Given the description of an element on the screen output the (x, y) to click on. 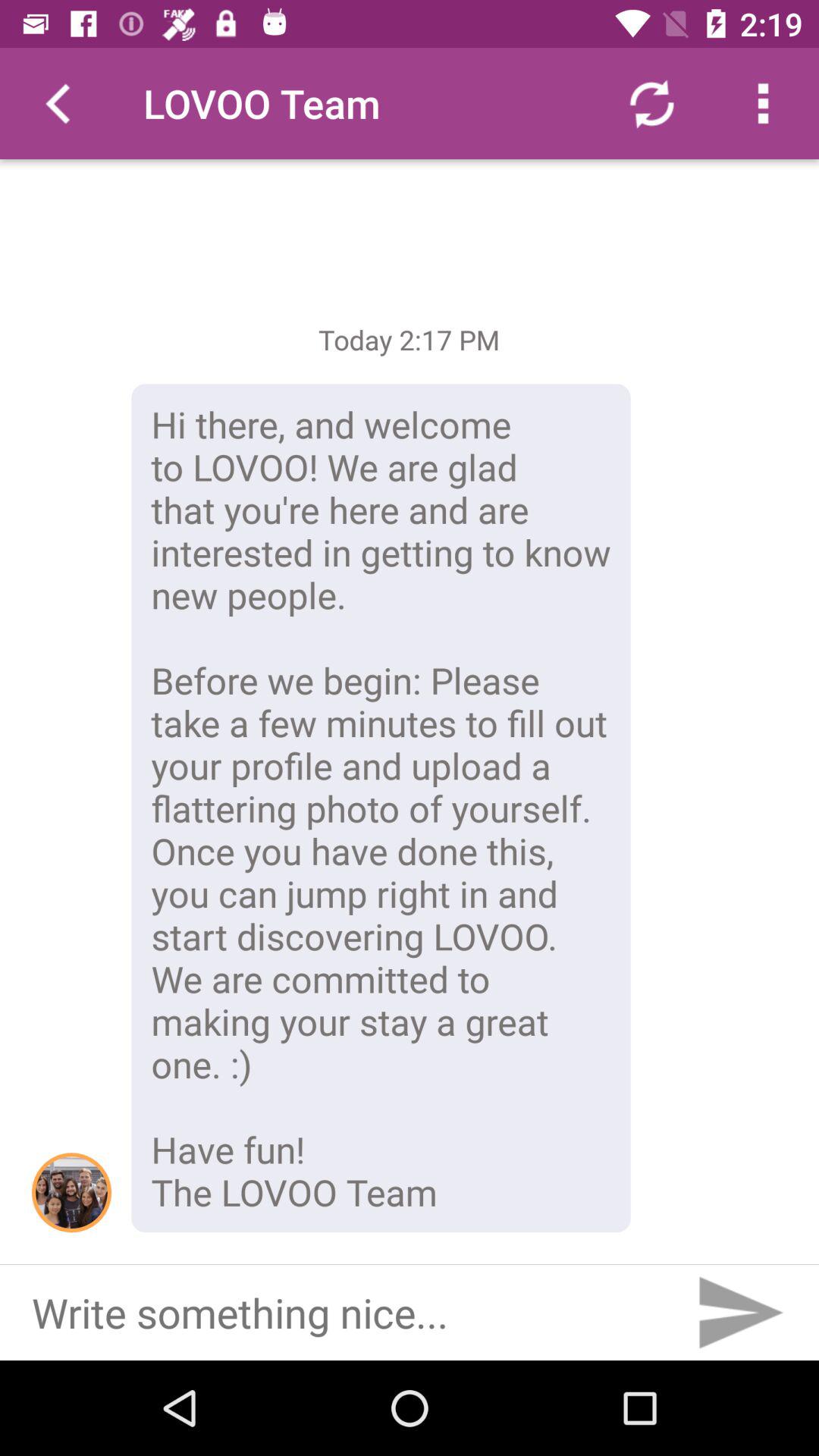
turn off the item at the bottom right corner (739, 1312)
